Given the description of an element on the screen output the (x, y) to click on. 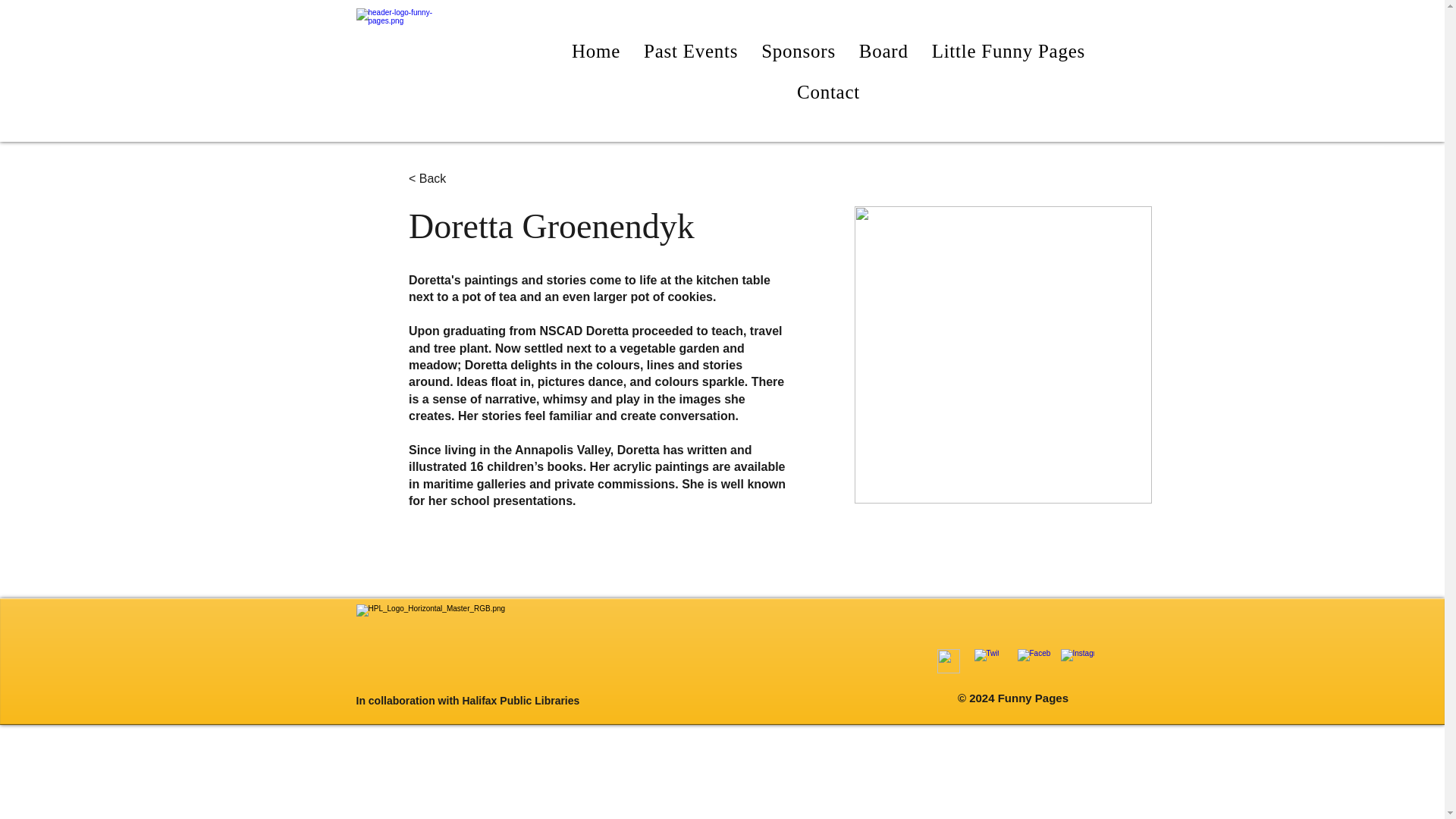
Sponsors (798, 51)
Little Funny Pages (1008, 51)
DORETTA-GROENENDYK.jpg (1002, 354)
Contact (827, 92)
Board (883, 51)
Home (595, 51)
